Given the description of an element on the screen output the (x, y) to click on. 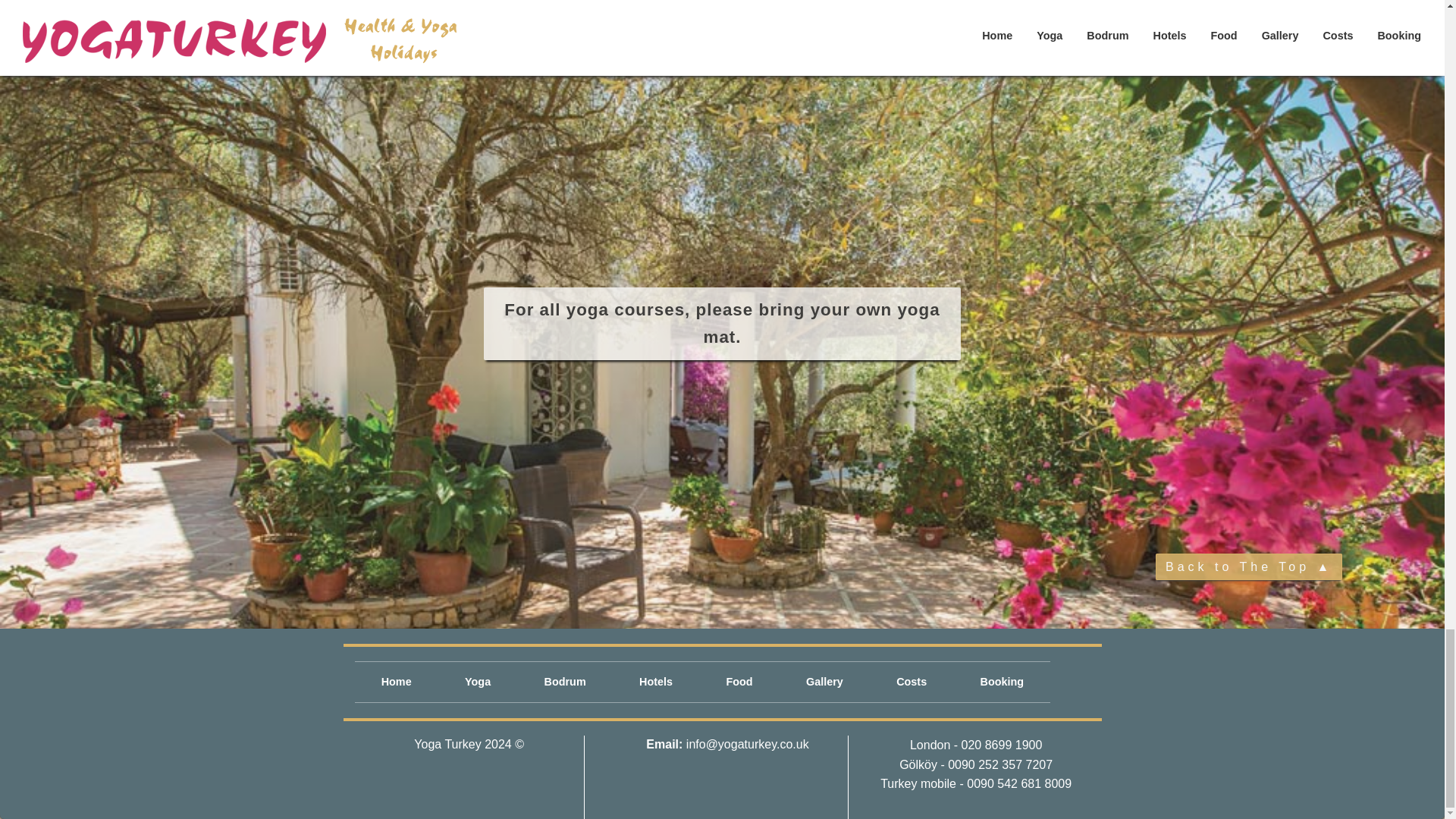
Costs (911, 681)
Gallery (823, 681)
Food (738, 681)
Hotels (655, 681)
Booking (1001, 681)
Home (396, 681)
Bodrum (564, 681)
Yoga (478, 681)
